Given the description of an element on the screen output the (x, y) to click on. 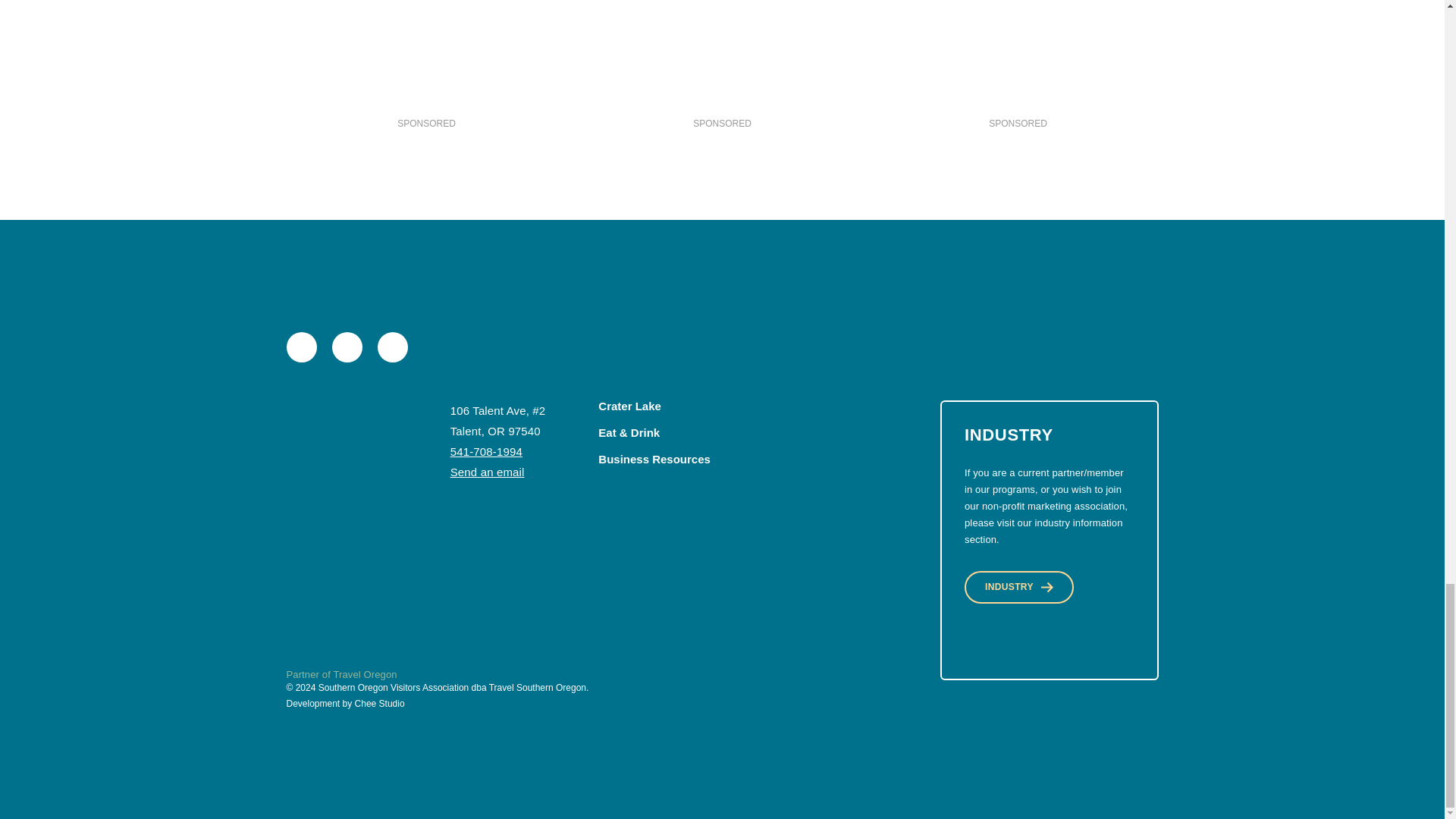
Industry (1018, 586)
Link to Instagram in new tab (392, 347)
Link to Facebook in new tab (301, 347)
Link to Twitter in new tab (346, 347)
Go to Top of Page (341, 455)
